Given the description of an element on the screen output the (x, y) to click on. 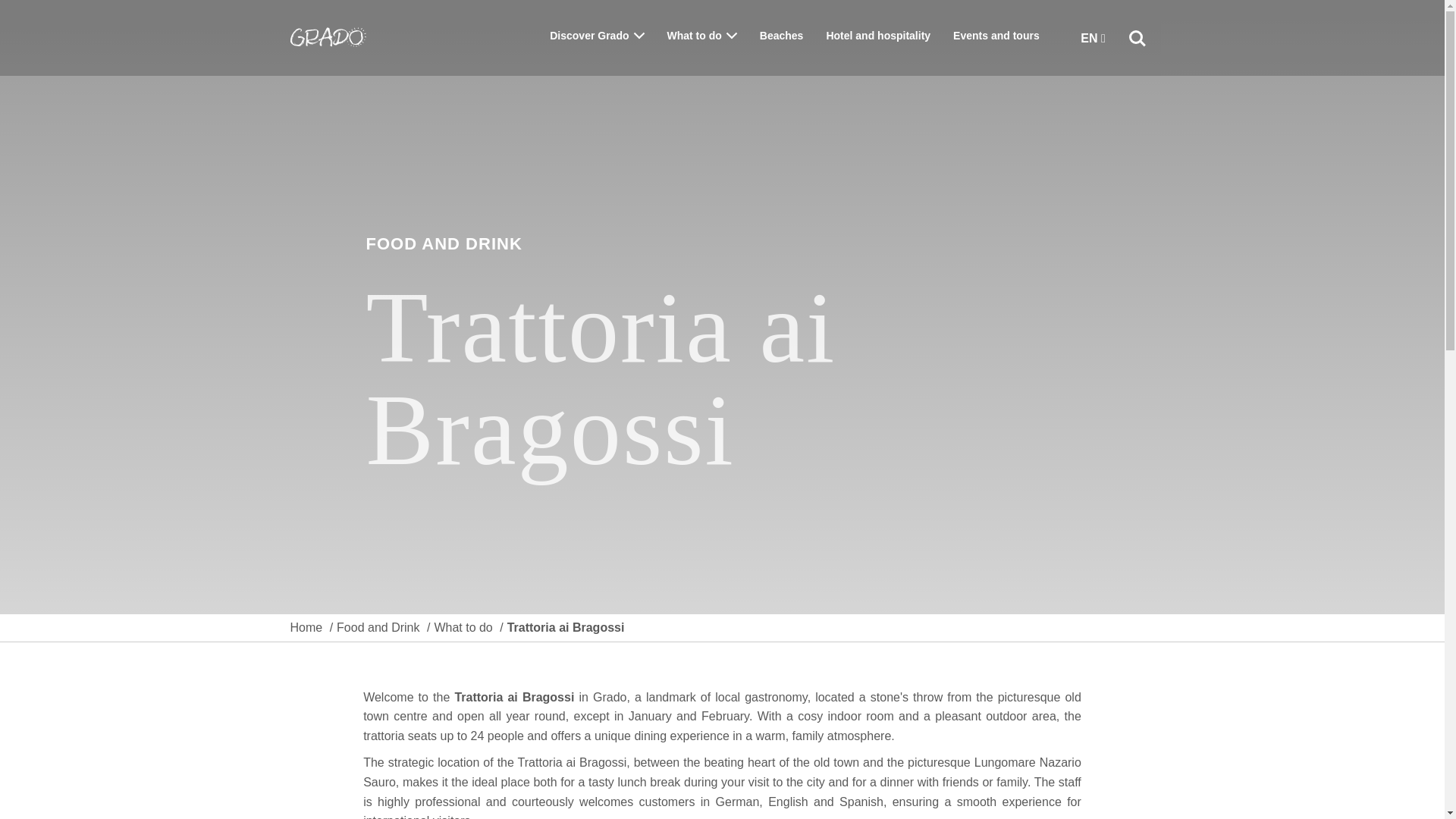
Food and Drink (377, 628)
What to do (701, 36)
Discover Grado (596, 36)
Beaches (781, 36)
EN (1092, 38)
What to do (462, 628)
Hotel and hospitality (877, 36)
Events and tours (996, 36)
